Given the description of an element on the screen output the (x, y) to click on. 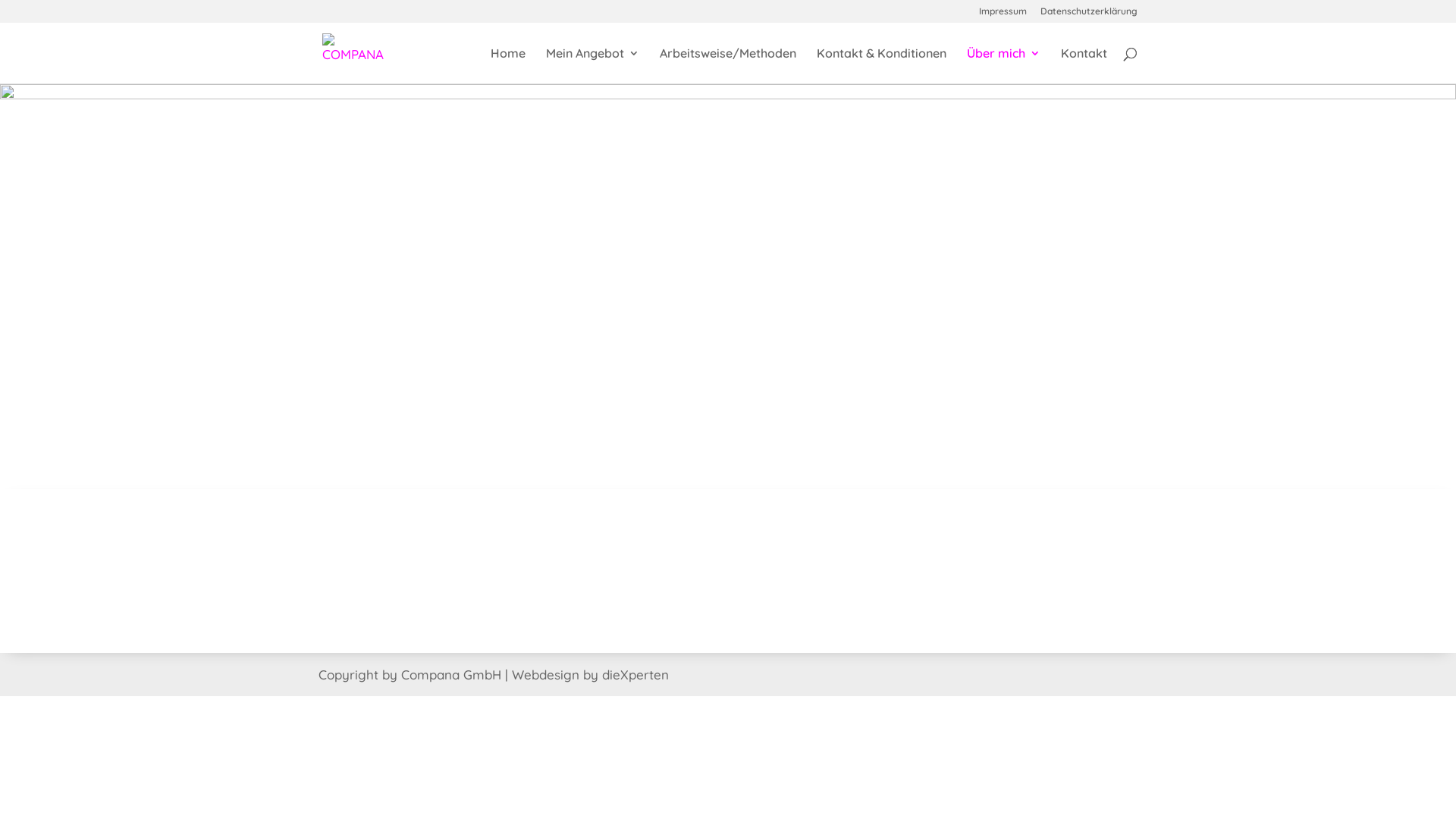
Home Element type: text (507, 65)
Impressum Element type: text (1002, 14)
Kontakt & Konditionen Element type: text (881, 65)
Kontakt Element type: text (1083, 65)
Mein Angebot Element type: text (592, 65)
Arbeitsweise/Methoden Element type: text (727, 65)
